Given the description of an element on the screen output the (x, y) to click on. 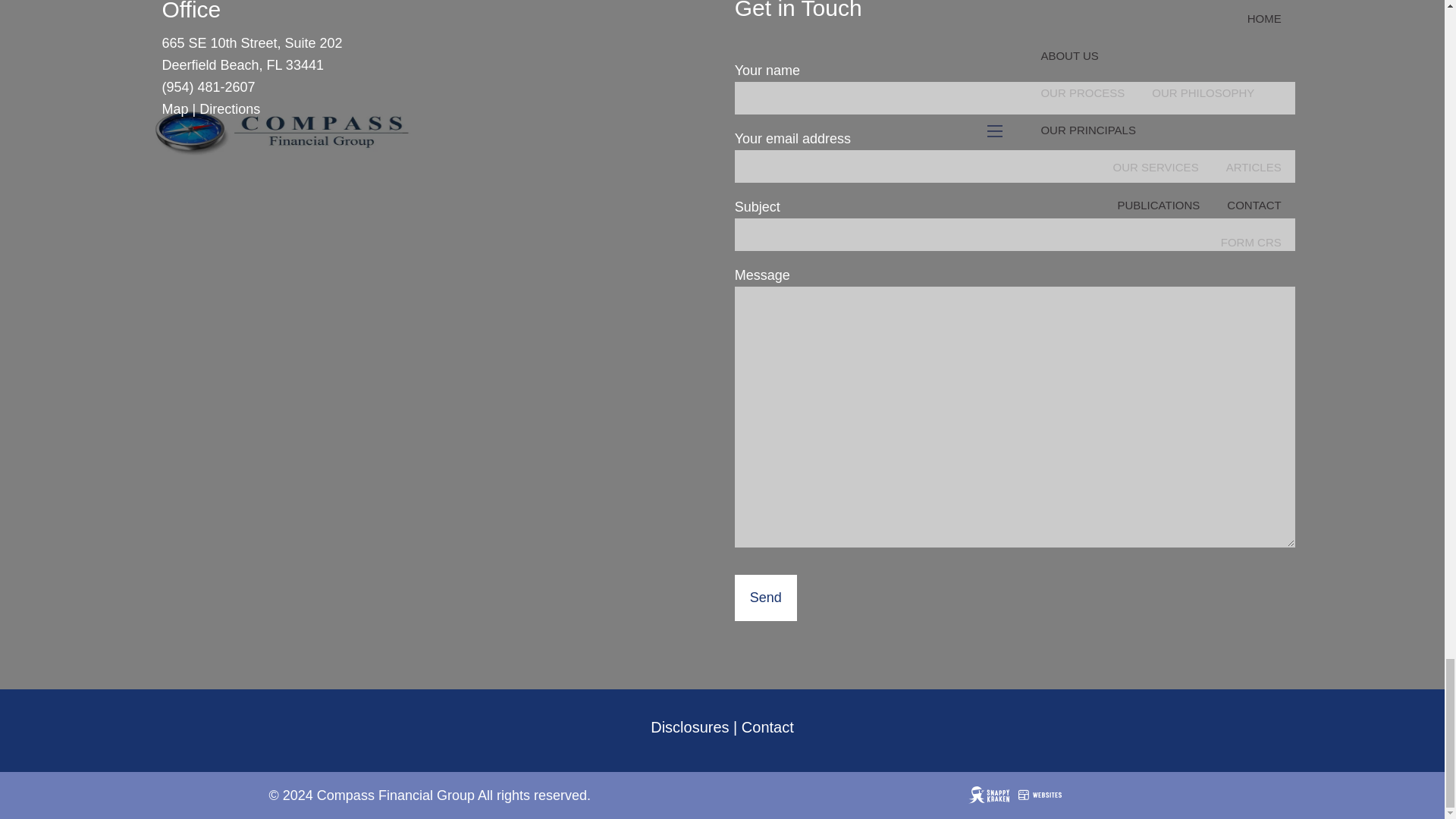
Contact (767, 727)
Send (765, 597)
Important Disclosures (689, 727)
